Given the description of an element on the screen output the (x, y) to click on. 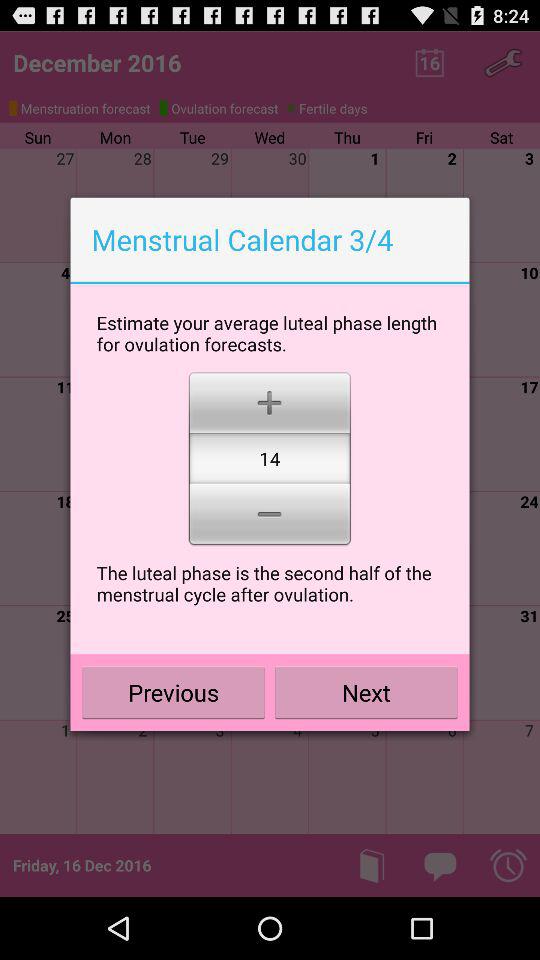
click the item at the bottom left corner (173, 692)
